Given the description of an element on the screen output the (x, y) to click on. 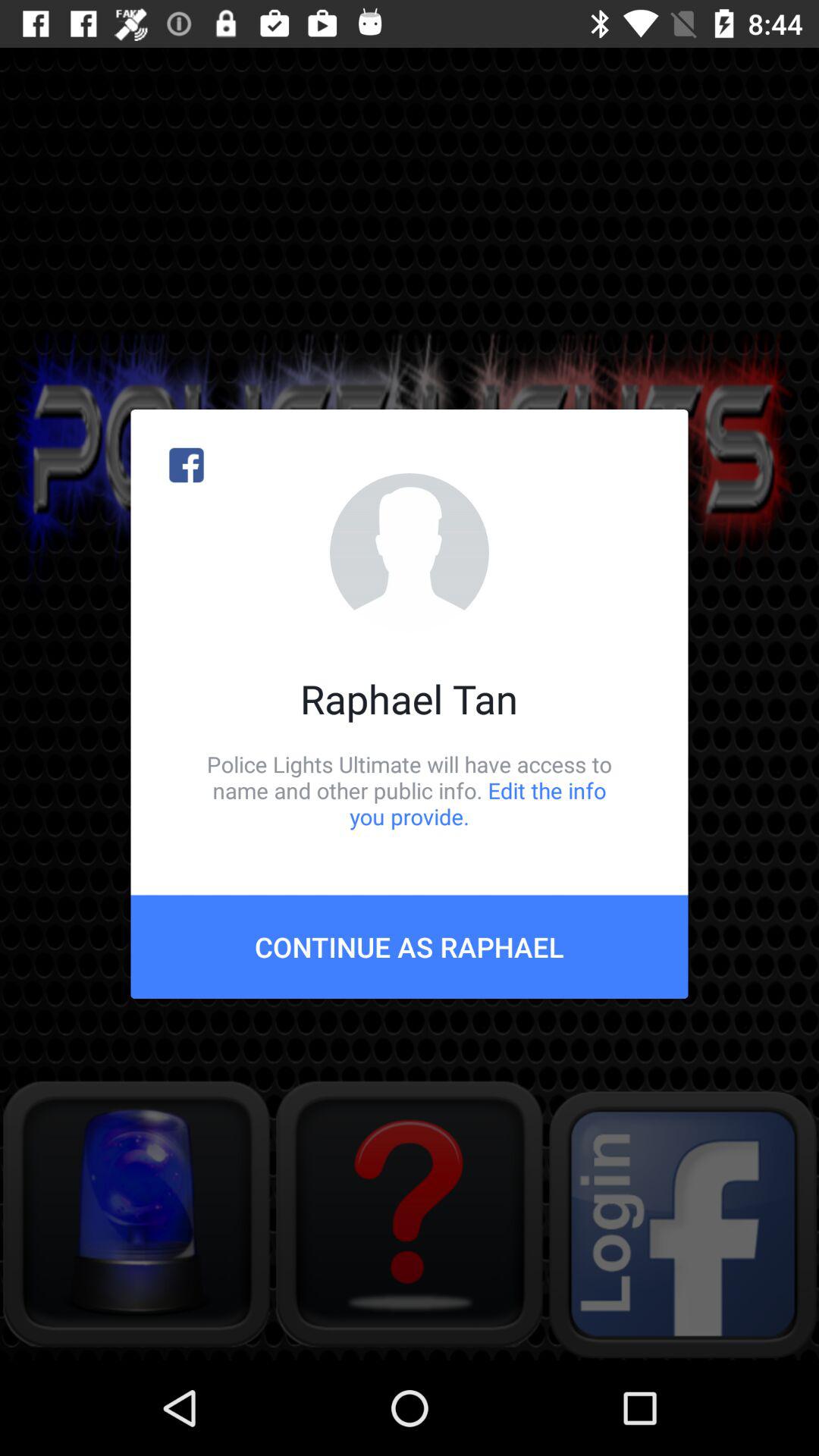
jump to the police lights ultimate icon (409, 790)
